Given the description of an element on the screen output the (x, y) to click on. 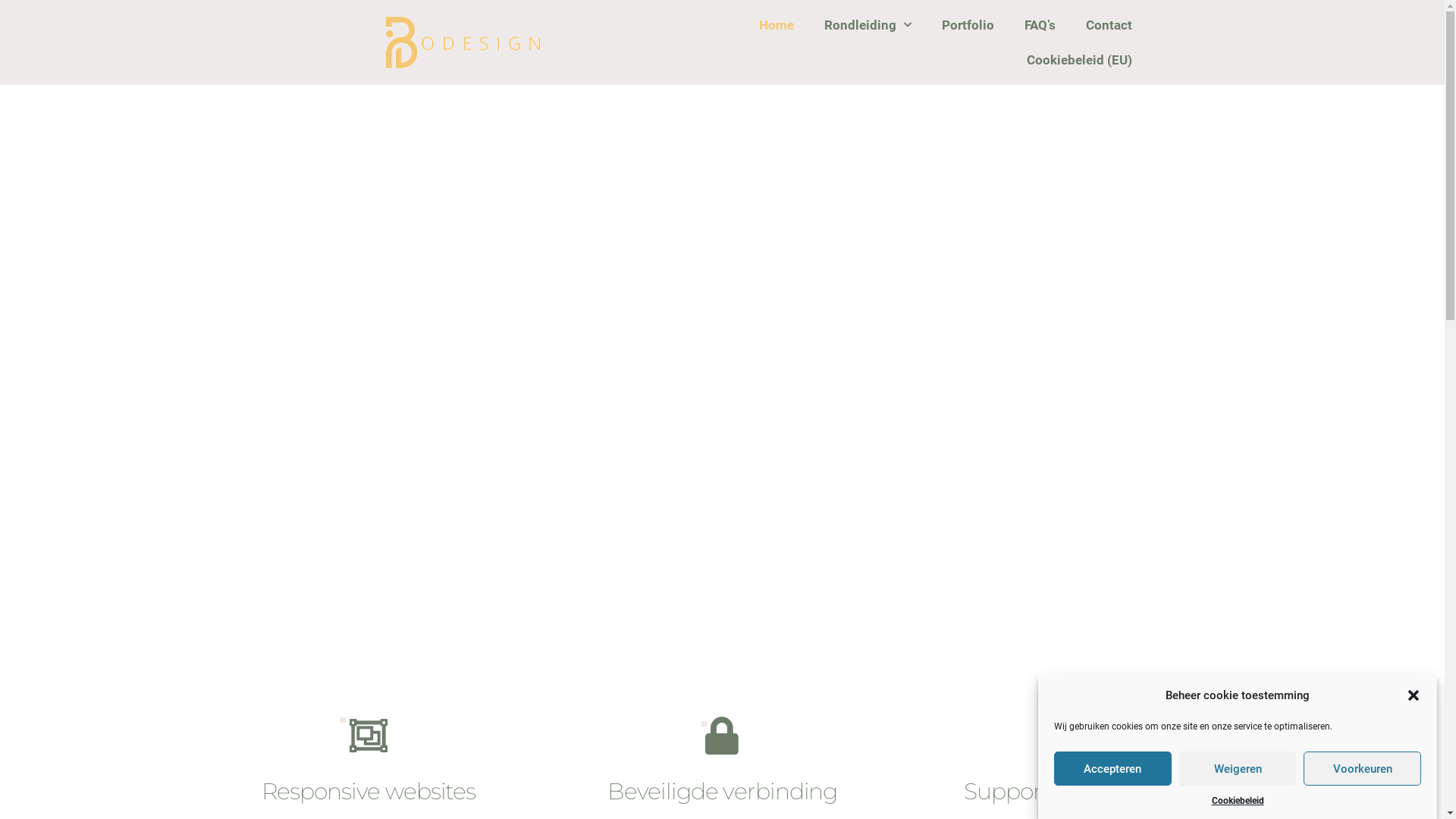
Portfolio Element type: text (967, 24)
Cookiebeleid Element type: text (1237, 799)
Home Element type: text (775, 24)
Rondleiding Element type: text (866, 24)
Voorkeuren Element type: text (1362, 768)
Cookiebeleid (EU) Element type: text (1079, 59)
Accepteren Element type: text (1112, 768)
Contact Element type: text (1108, 24)
Weigeren Element type: text (1237, 768)
